Given the description of an element on the screen output the (x, y) to click on. 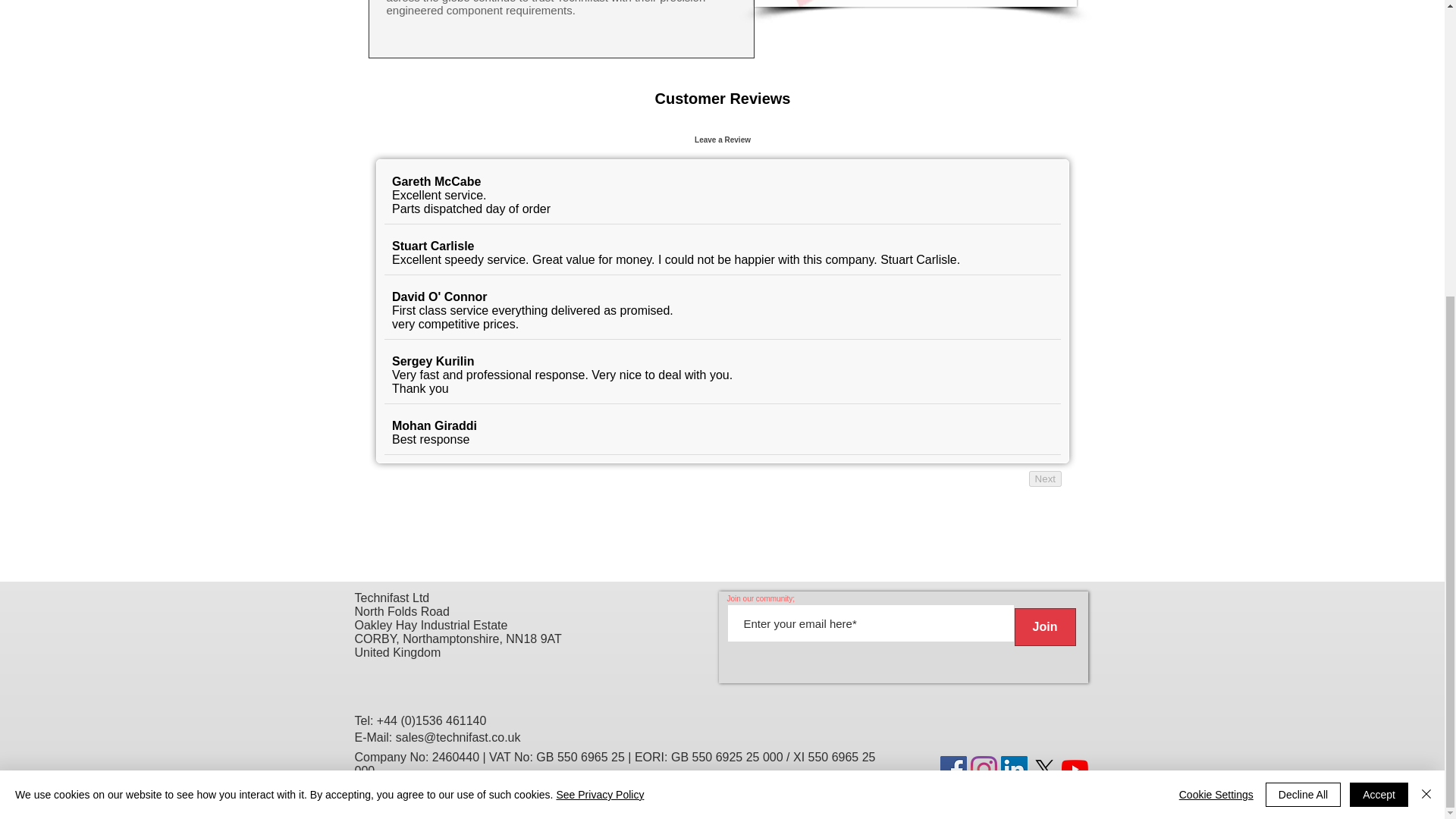
Decline All (1302, 337)
Join (1044, 627)
See Privacy Policy (599, 337)
Accept (1378, 337)
